Given the description of an element on the screen output the (x, y) to click on. 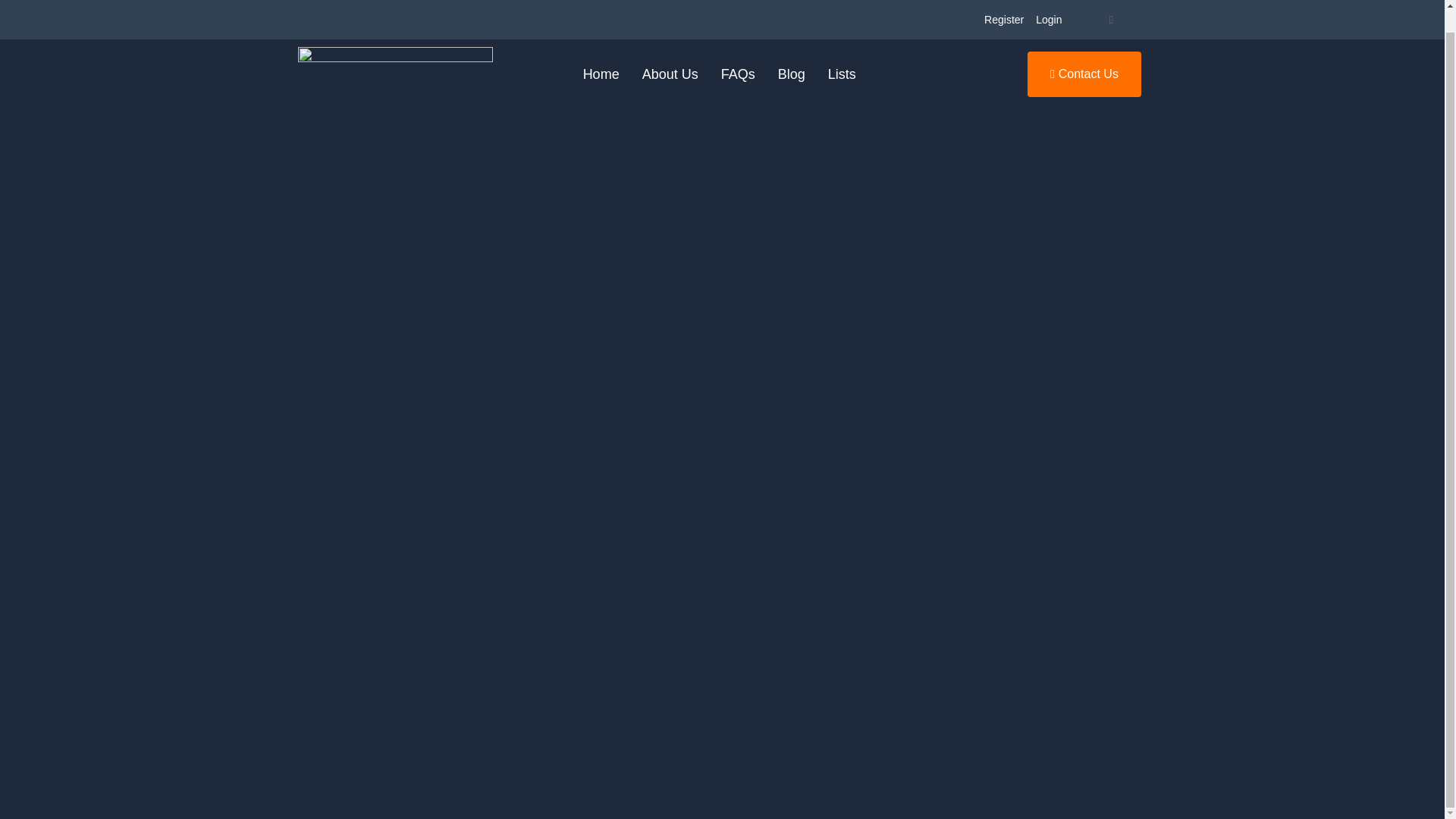
About Us (670, 74)
Contact Us (1084, 74)
Blog (791, 74)
FAQs (738, 74)
Cart (1110, 19)
Login (1048, 19)
Lists (841, 74)
Register (1003, 19)
Home (601, 74)
